Given the description of an element on the screen output the (x, y) to click on. 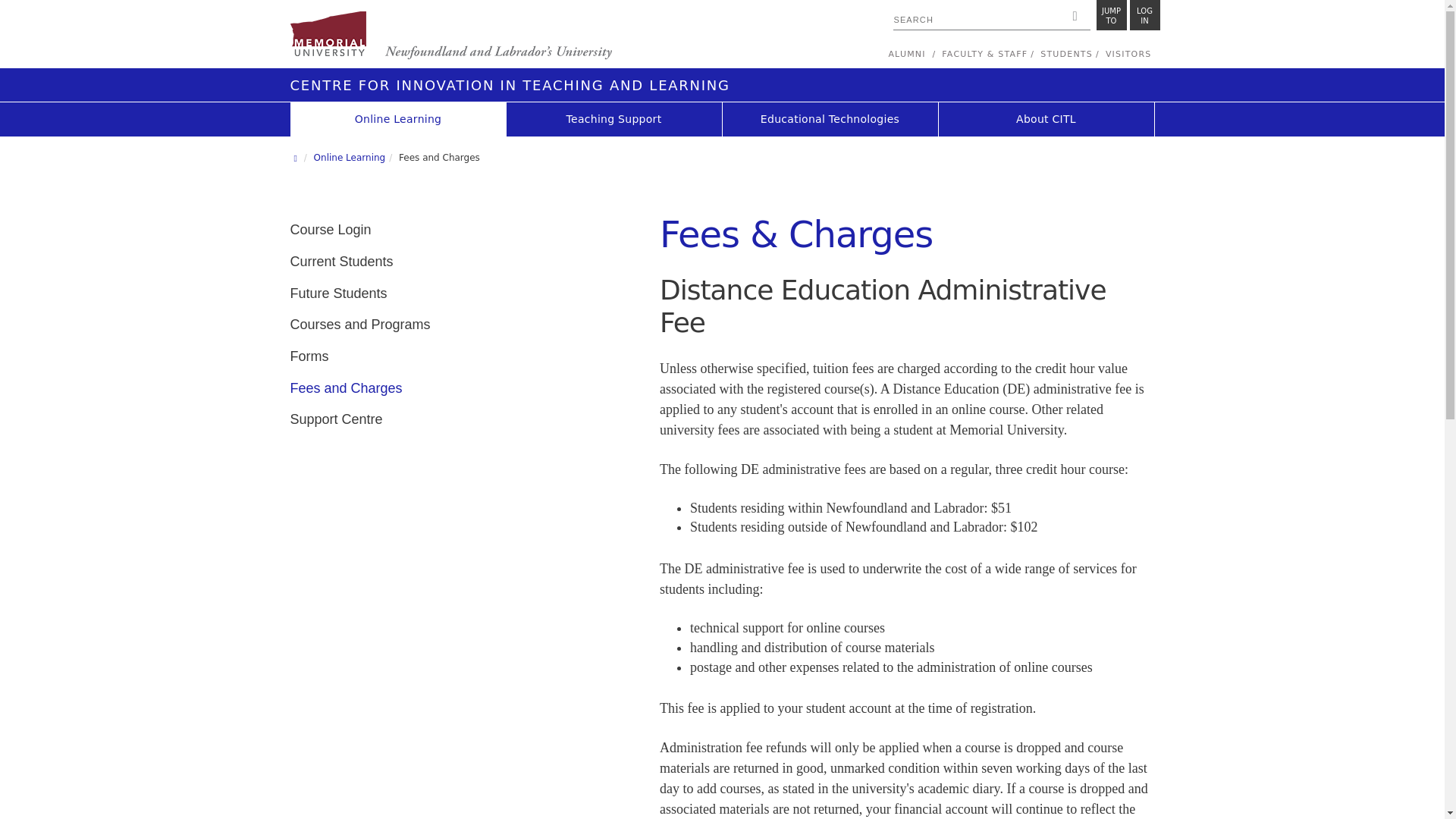
Memorial University of Newfoundland (1144, 15)
JUMP TO (450, 35)
Memorial University (1111, 15)
